Given the description of an element on the screen output the (x, y) to click on. 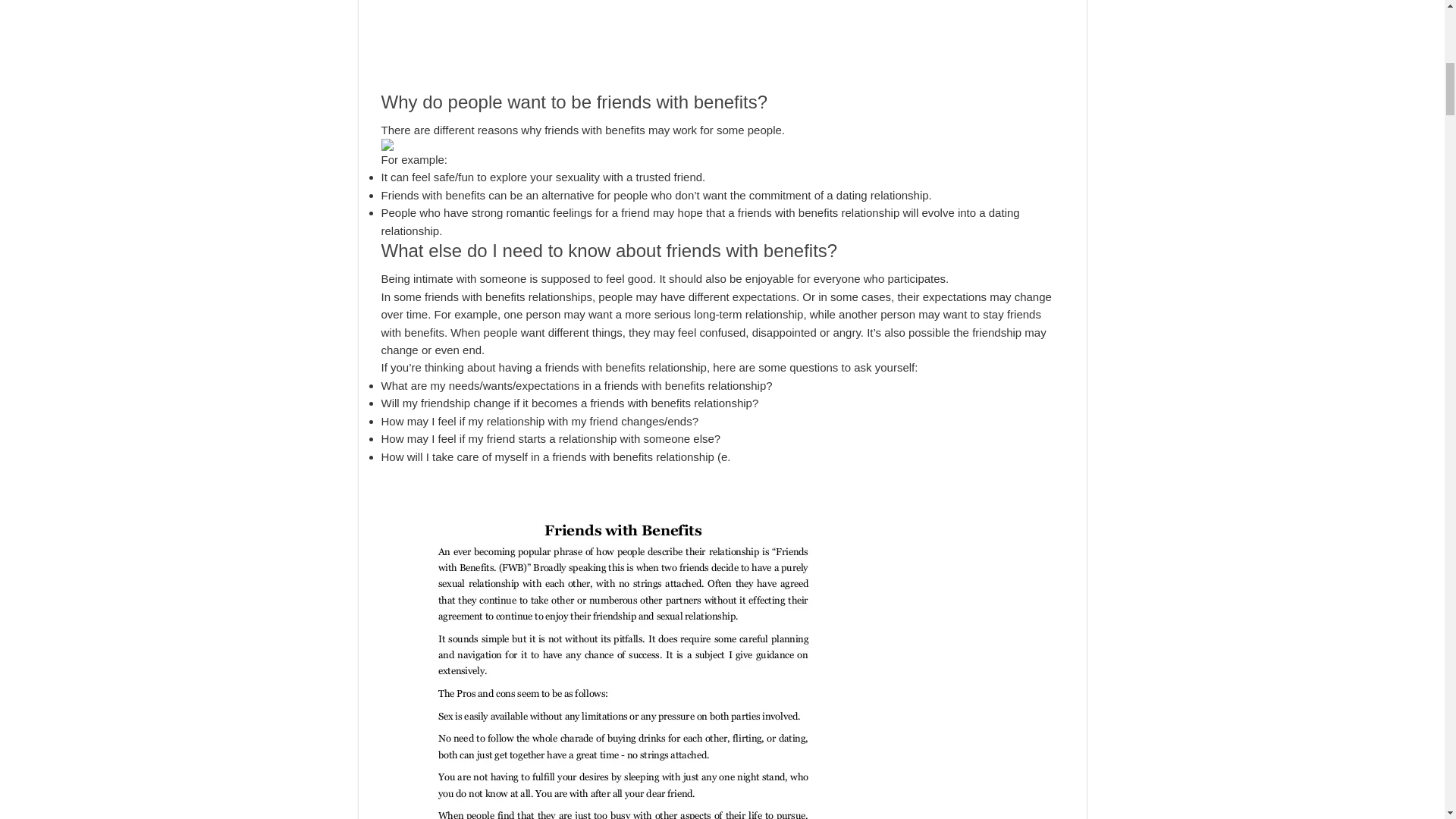
Advertisement (721, 45)
